Given the description of an element on the screen output the (x, y) to click on. 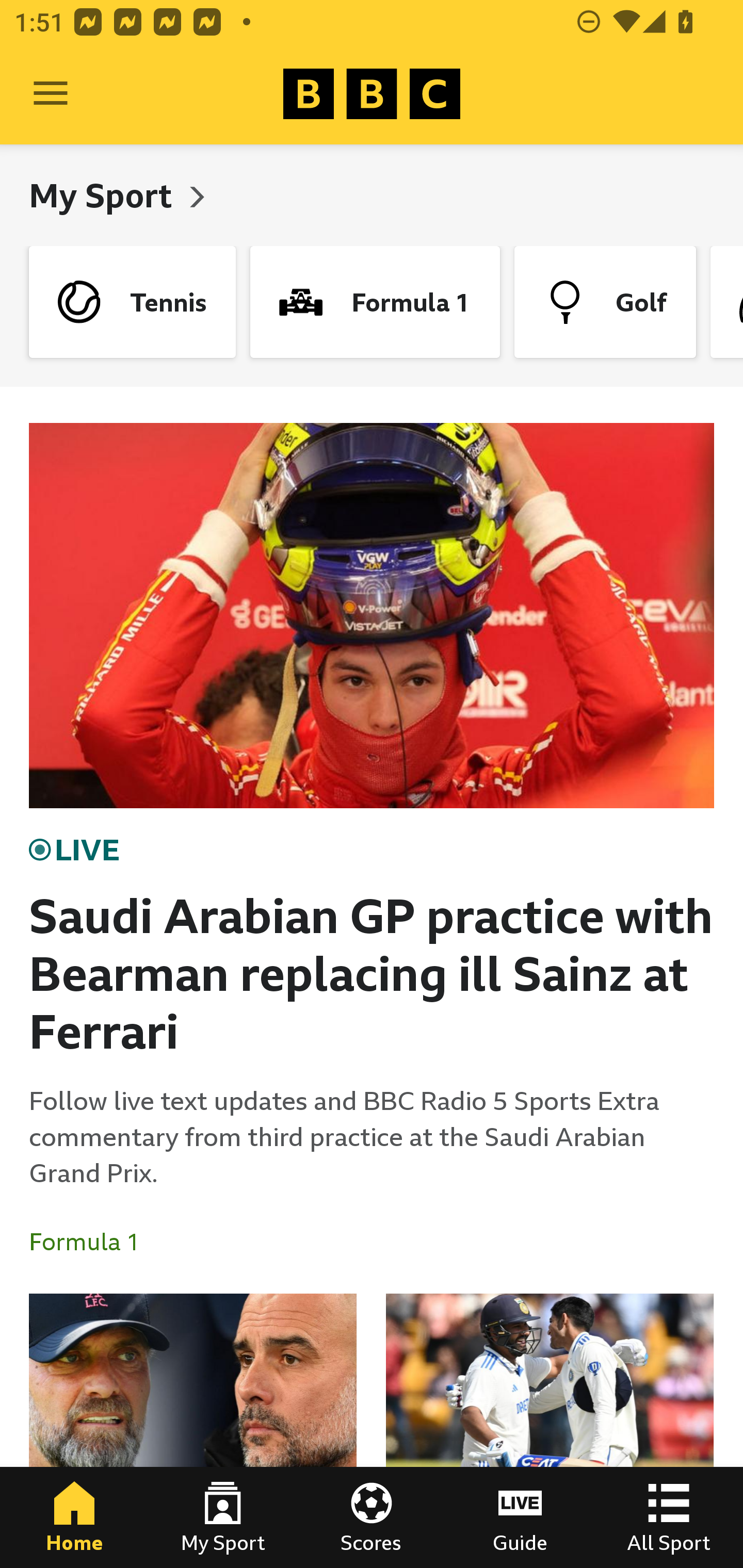
Open Menu (50, 93)
My Sport (104, 195)
Formula 1 In the section Formula 1 (91, 1241)
India build big lead despite Stokes' return wicket (549, 1430)
My Sport (222, 1517)
Scores (371, 1517)
Guide (519, 1517)
All Sport (668, 1517)
